Given the description of an element on the screen output the (x, y) to click on. 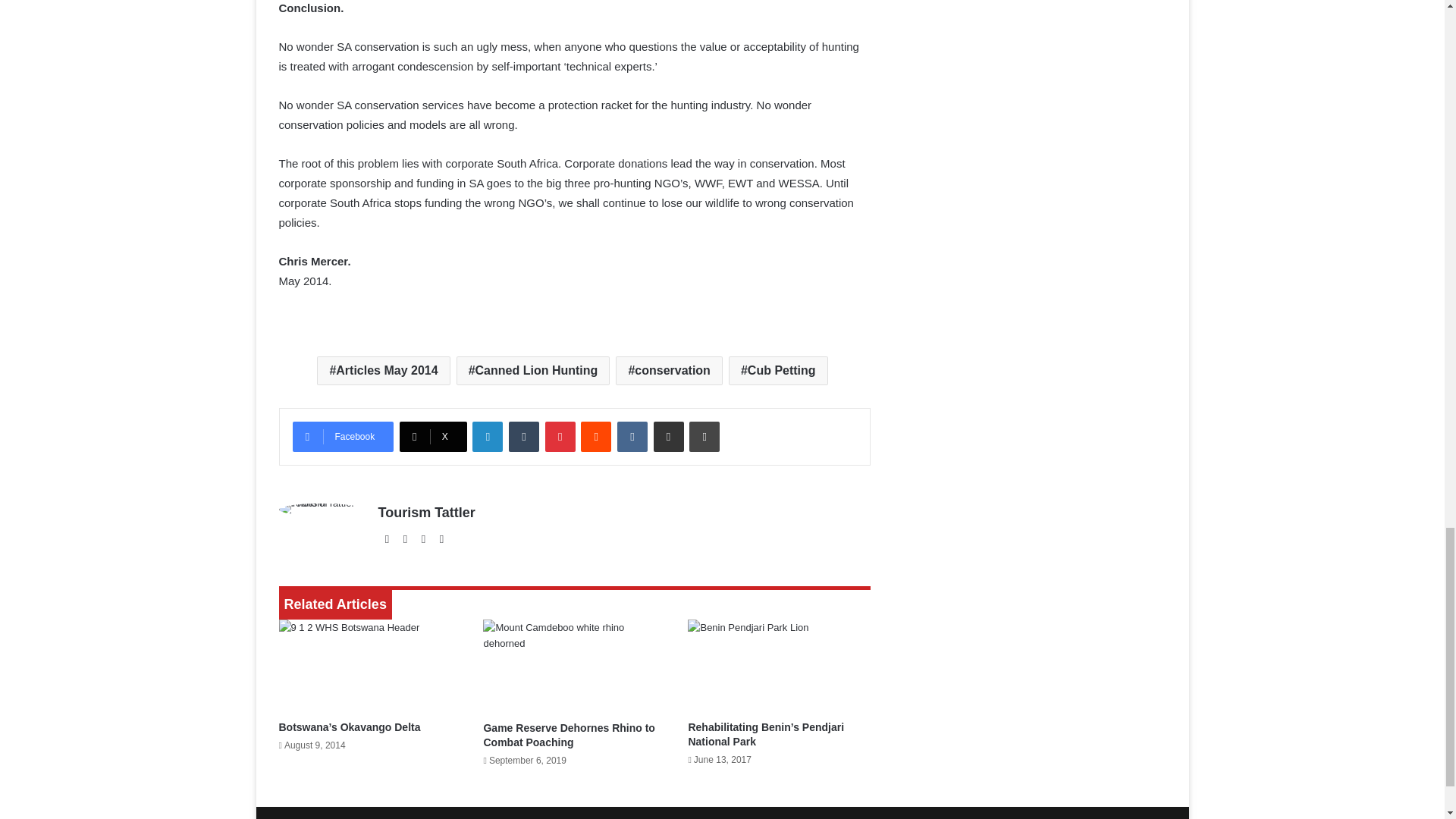
VKontakte (632, 436)
Pinterest (559, 436)
LinkedIn (486, 436)
Share via Email (668, 436)
Reddit (595, 436)
Facebook (343, 436)
X (432, 436)
Print (703, 436)
Tumblr (523, 436)
